Given the description of an element on the screen output the (x, y) to click on. 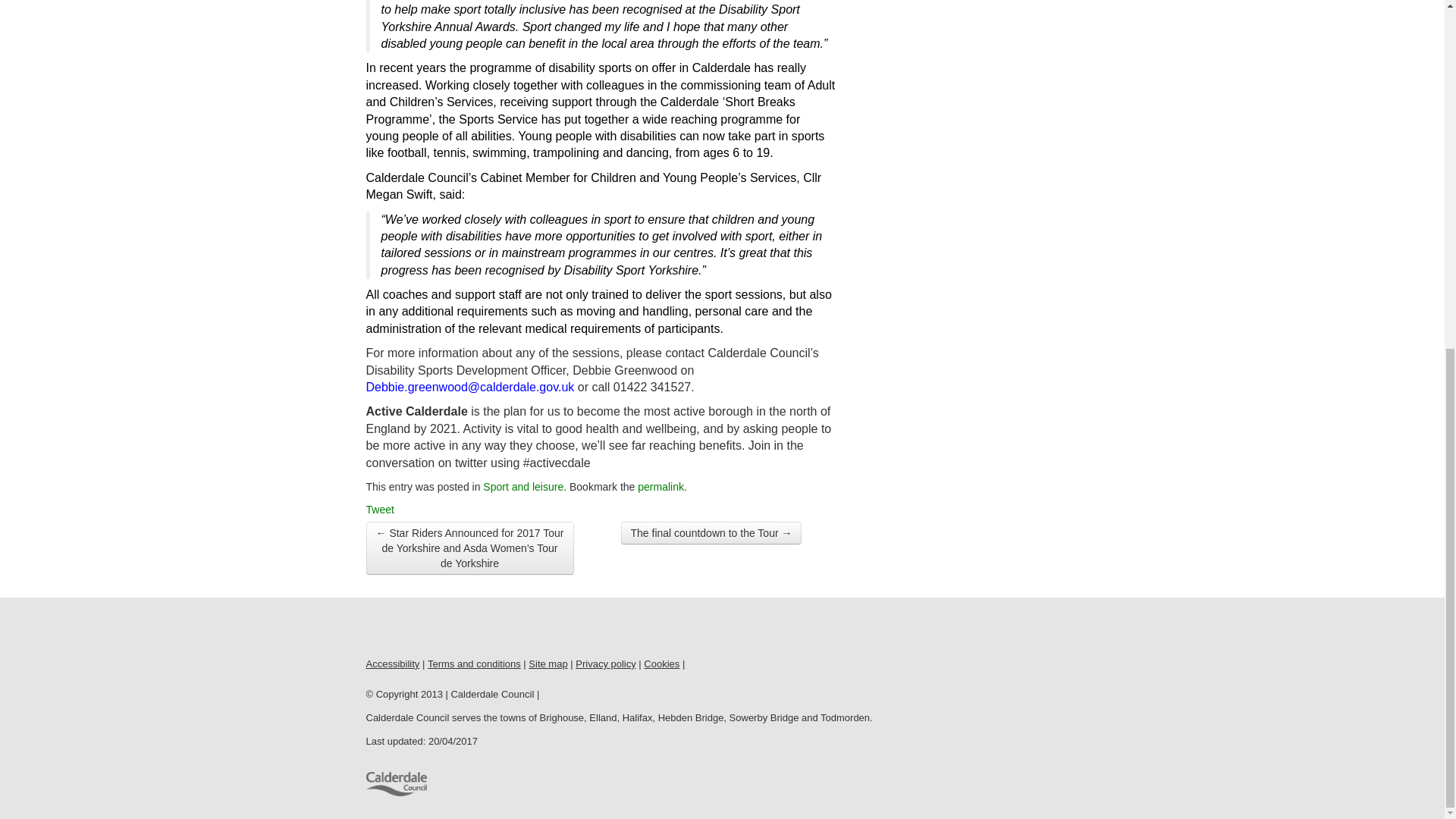
permalink (660, 486)
Site map (547, 663)
RSS (440, 629)
Tweet (379, 509)
Facebook (377, 629)
Accessibility (392, 663)
Sport and leisure (523, 486)
Twitter (409, 629)
Terms and conditions (474, 663)
Permalink to Top award for disability sports (660, 486)
